Given the description of an element on the screen output the (x, y) to click on. 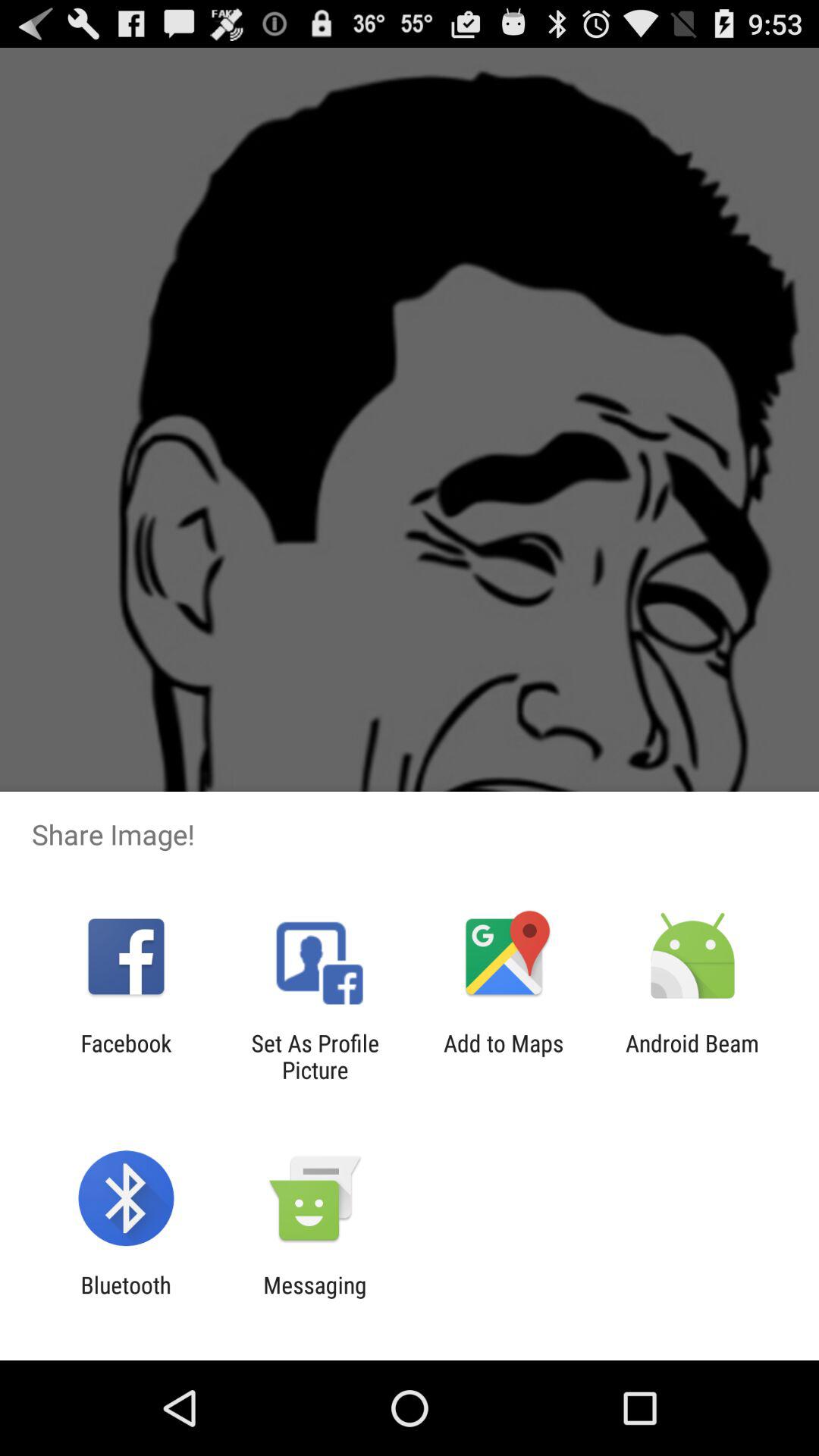
turn off icon next to android beam (503, 1056)
